Given the description of an element on the screen output the (x, y) to click on. 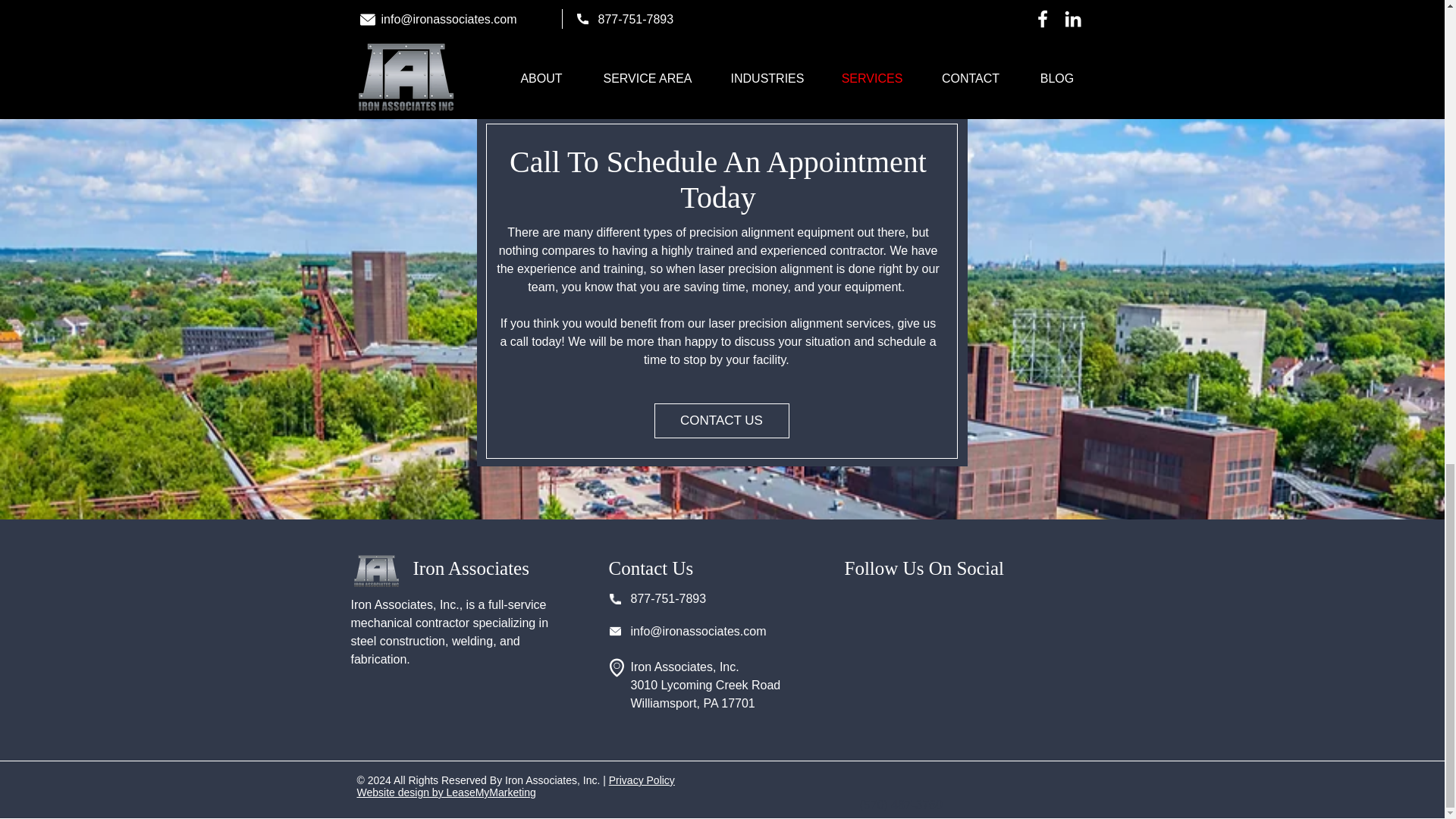
Privacy Policy (641, 779)
877-751-7893 (668, 598)
Website design by LeaseMyMarketing (445, 792)
CONTACT US (721, 420)
